Given the description of an element on the screen output the (x, y) to click on. 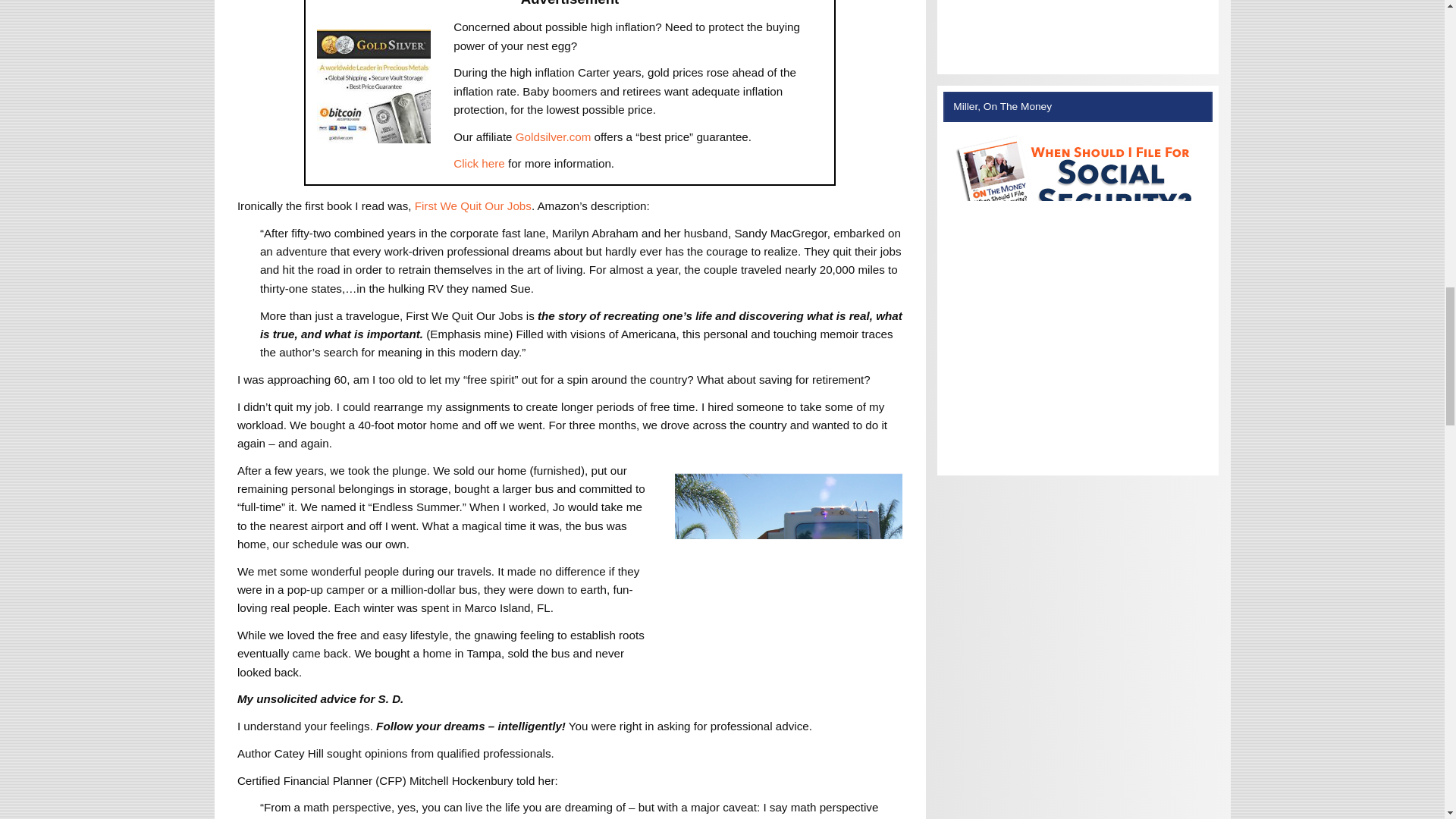
First We Quit Our Jobs (472, 205)
Click here (478, 163)
Goldsilver.com (553, 136)
Miller, On The Money (1078, 25)
